Given the description of an element on the screen output the (x, y) to click on. 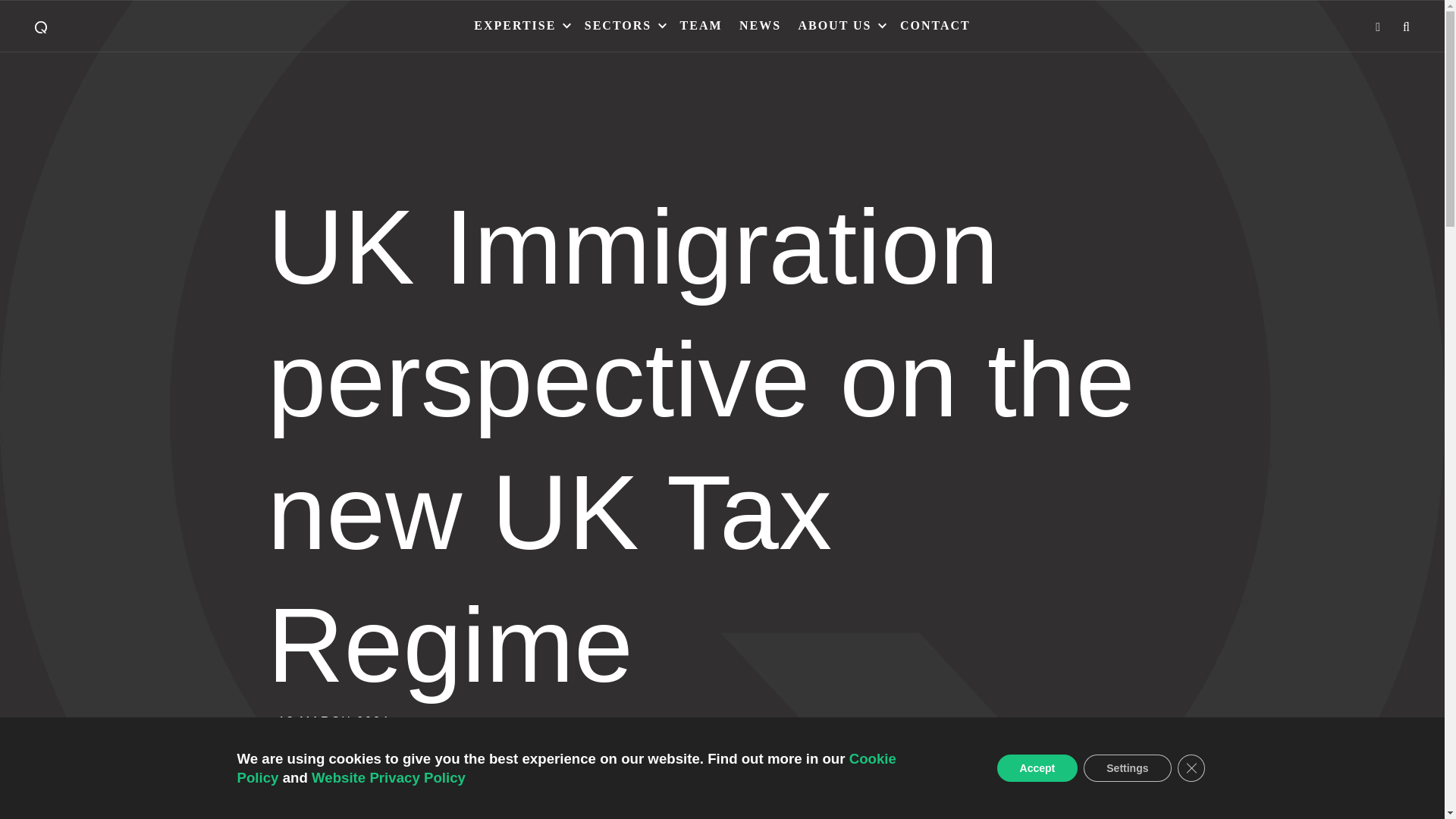
CONTACT (934, 25)
Sectors (618, 25)
ABOUT US (834, 25)
NEWS (760, 25)
TEAM (700, 25)
Expertise (514, 25)
SECTORS (618, 25)
EXPERTISE (514, 25)
